Given the description of an element on the screen output the (x, y) to click on. 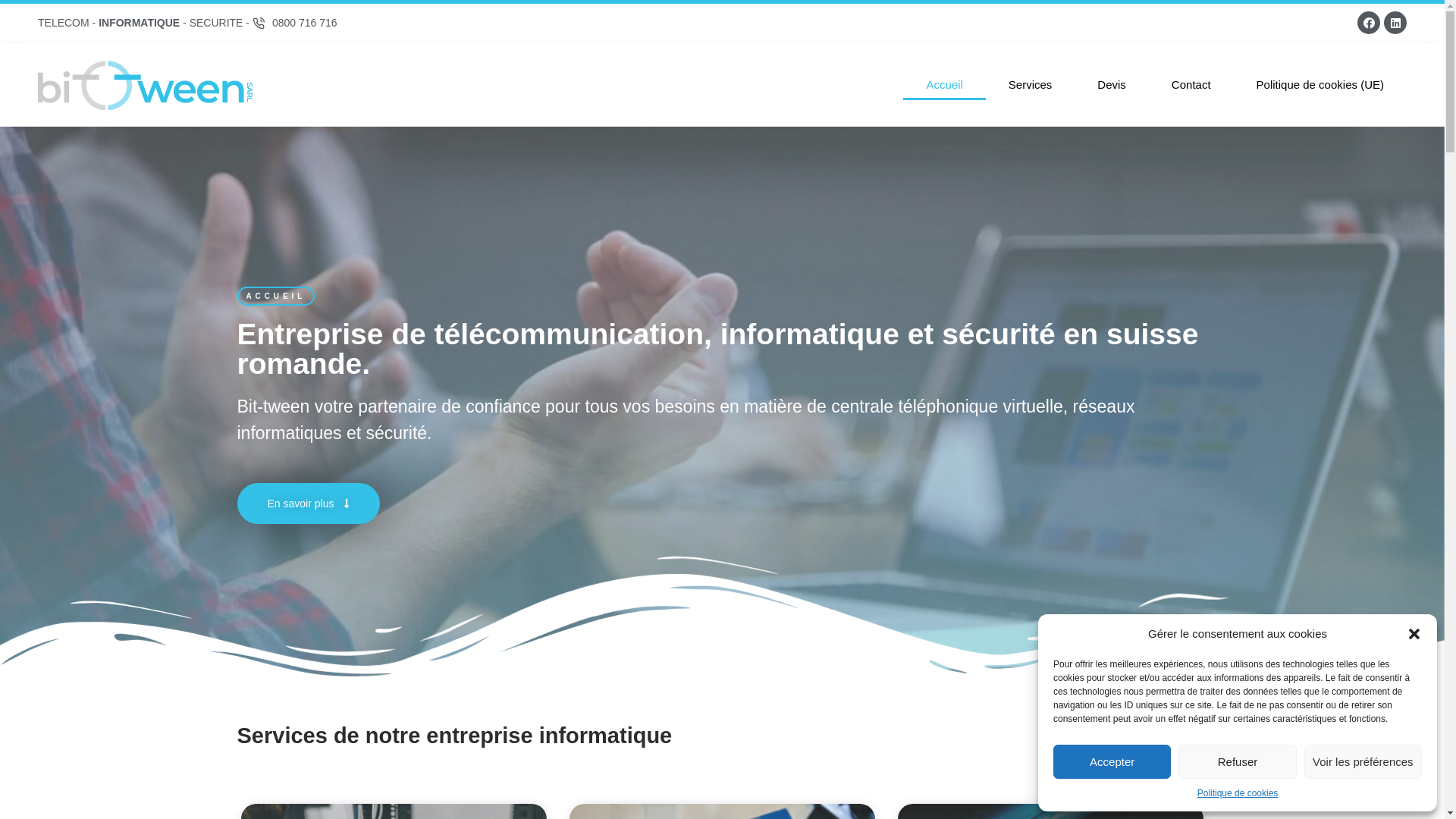
Politique de cookies Element type: text (1237, 793)
0800 716 716 Element type: text (294, 22)
Accepter Element type: text (1111, 761)
Accueil Element type: text (944, 84)
Politique de cookies (UE) Element type: text (1319, 84)
En savoir plus Element type: text (307, 503)
Refuser Element type: text (1236, 761)
Contact Element type: text (1190, 84)
Services Element type: text (1030, 84)
Devis Element type: text (1111, 84)
